Given the description of an element on the screen output the (x, y) to click on. 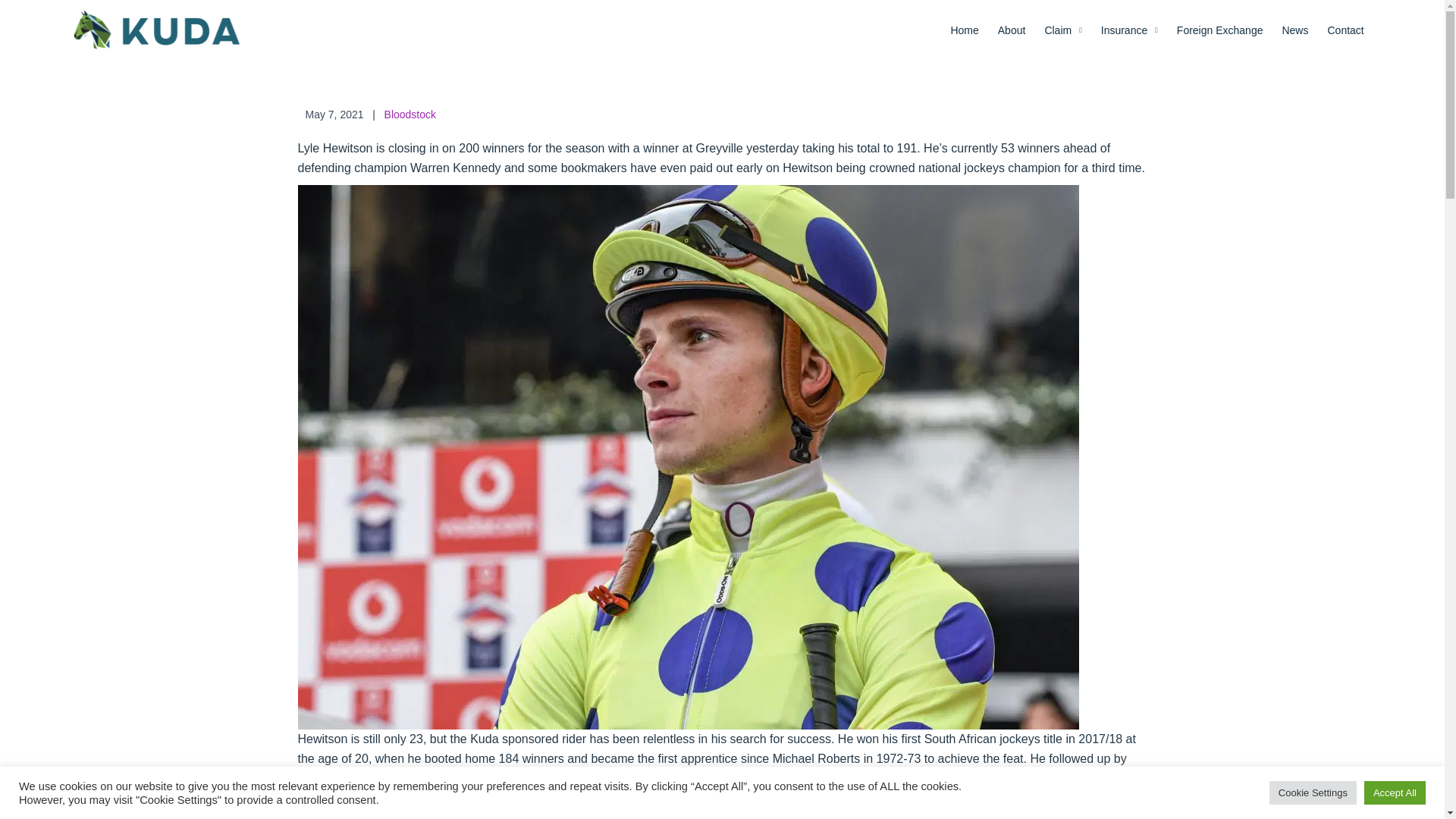
Insurance (1129, 30)
Contact (1345, 30)
Claim (1062, 30)
Foreign Exchange (1220, 30)
